Given the description of an element on the screen output the (x, y) to click on. 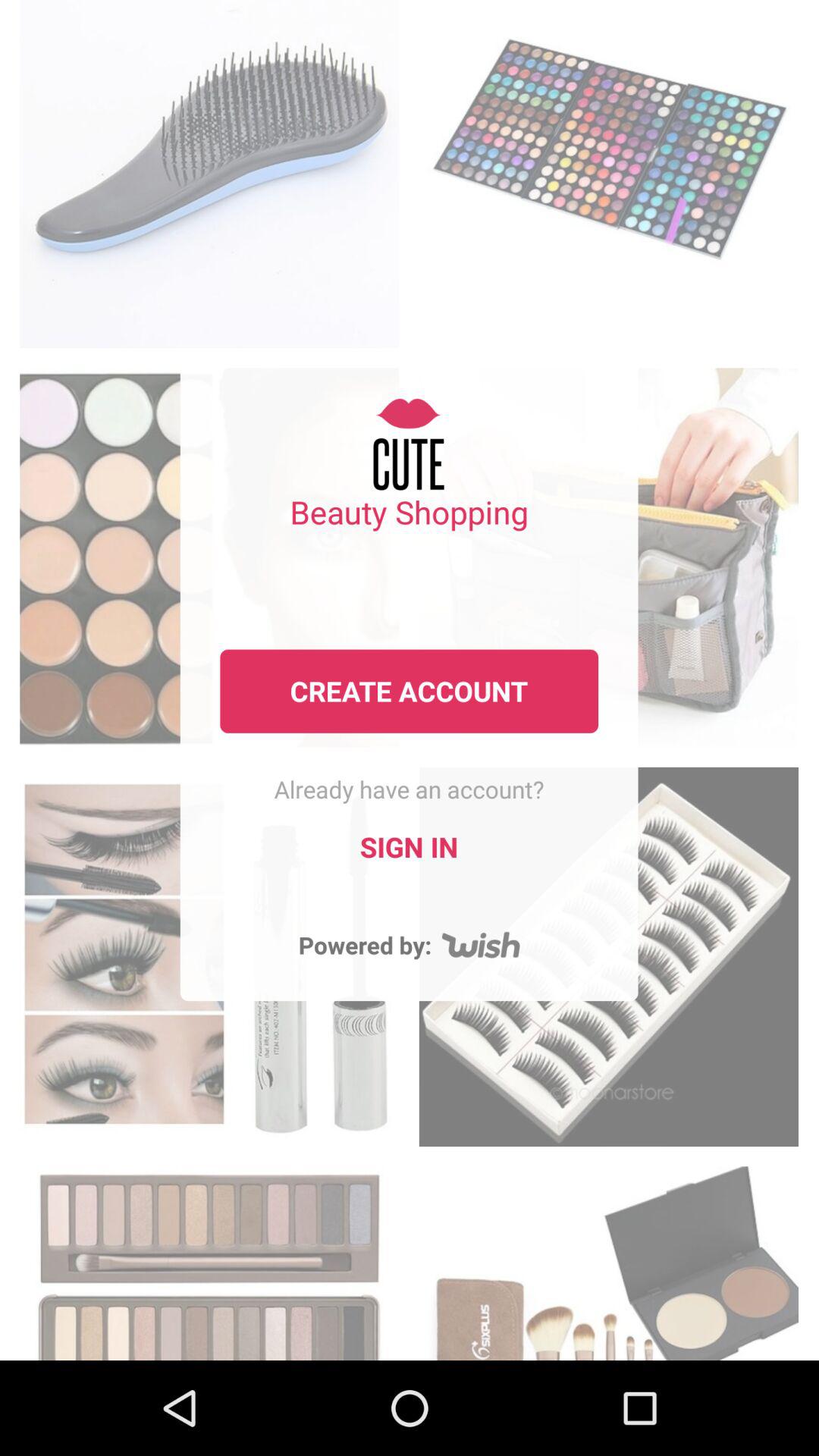
browse the cosmetics (608, 1258)
